Given the description of an element on the screen output the (x, y) to click on. 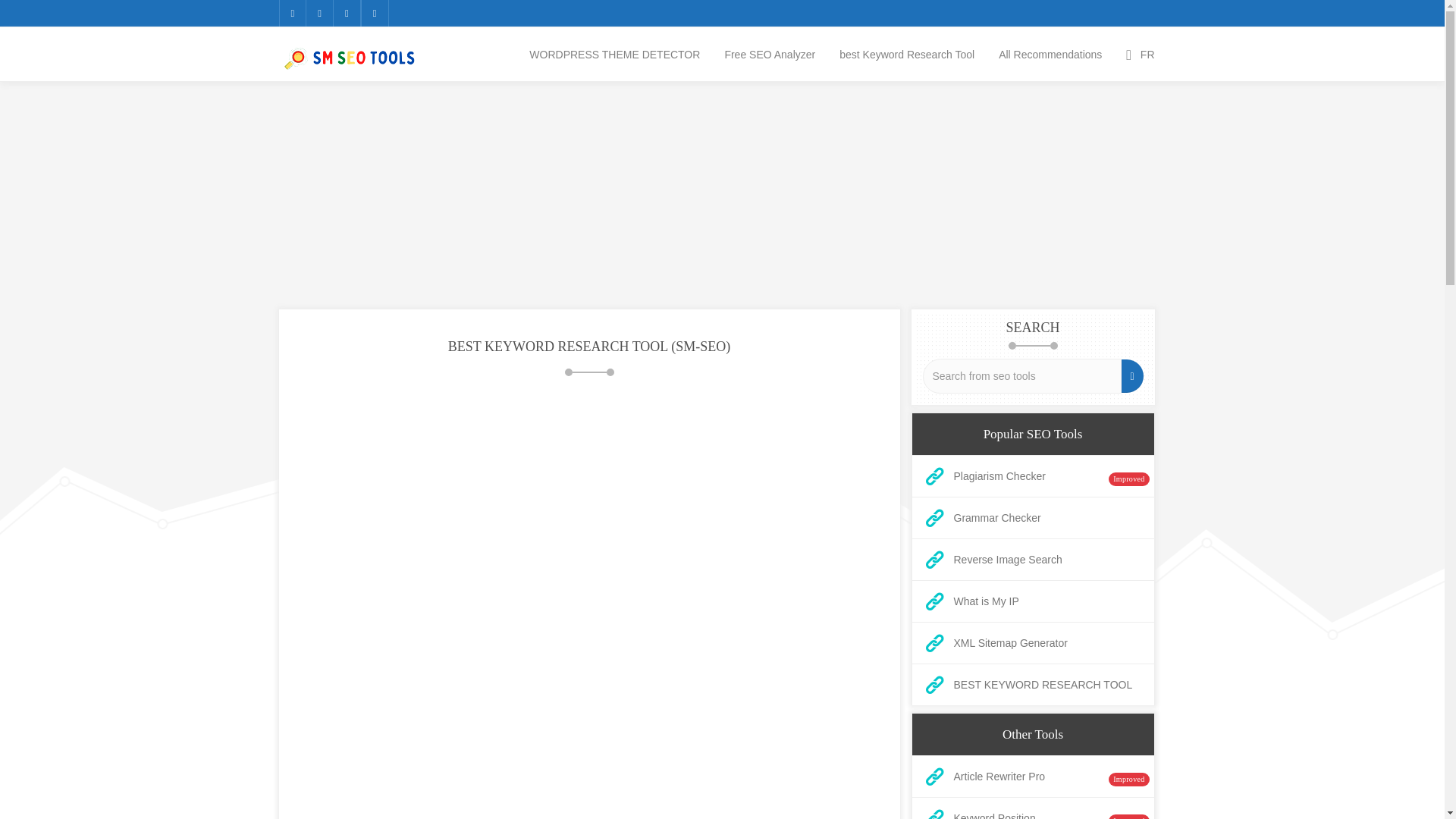
All Recommendations (1050, 53)
best Keyword Research Tool (906, 53)
Article Rewriter Pro (1031, 776)
  FR (1140, 53)
Keyword Position (1031, 812)
XML Sitemap Generator (1031, 642)
Grammar Checker (1031, 518)
Advertisement (589, 195)
WORDPRESS THEME DETECTOR (614, 53)
Reverse Image Search (1031, 560)
Plagiarism Checker (1031, 476)
Free SEO Analyzer (770, 53)
BEST KEYWORD RESEARCH TOOL (1031, 684)
What is My IP (1031, 601)
